Given the description of an element on the screen output the (x, y) to click on. 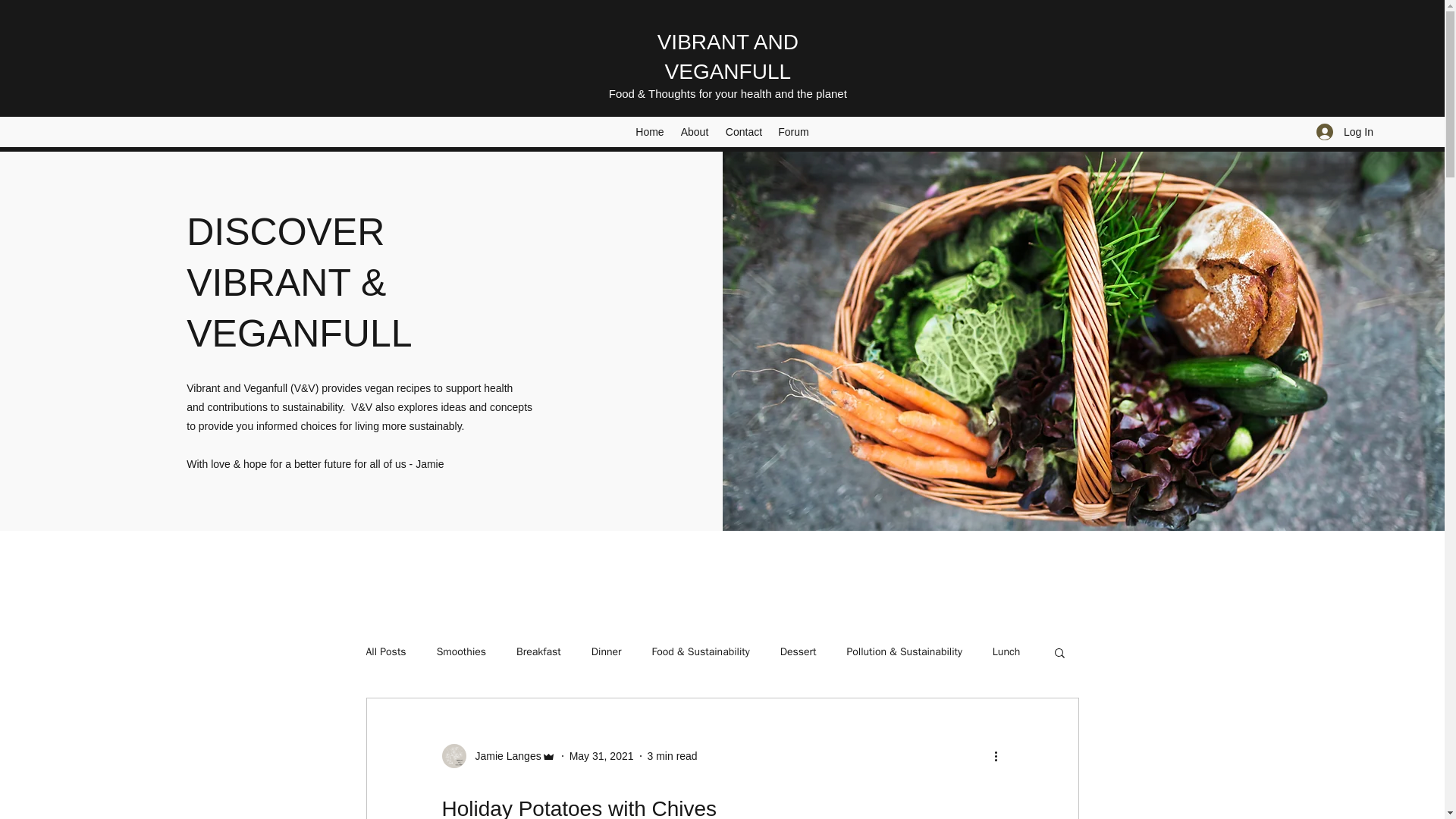
Smoothies (461, 652)
Lunch (1006, 652)
Dinner (606, 652)
All Posts (385, 652)
Log In (1345, 131)
About (694, 131)
Contact (743, 131)
Home (649, 131)
Breakfast (538, 652)
Jamie Langes (502, 756)
